Given the description of an element on the screen output the (x, y) to click on. 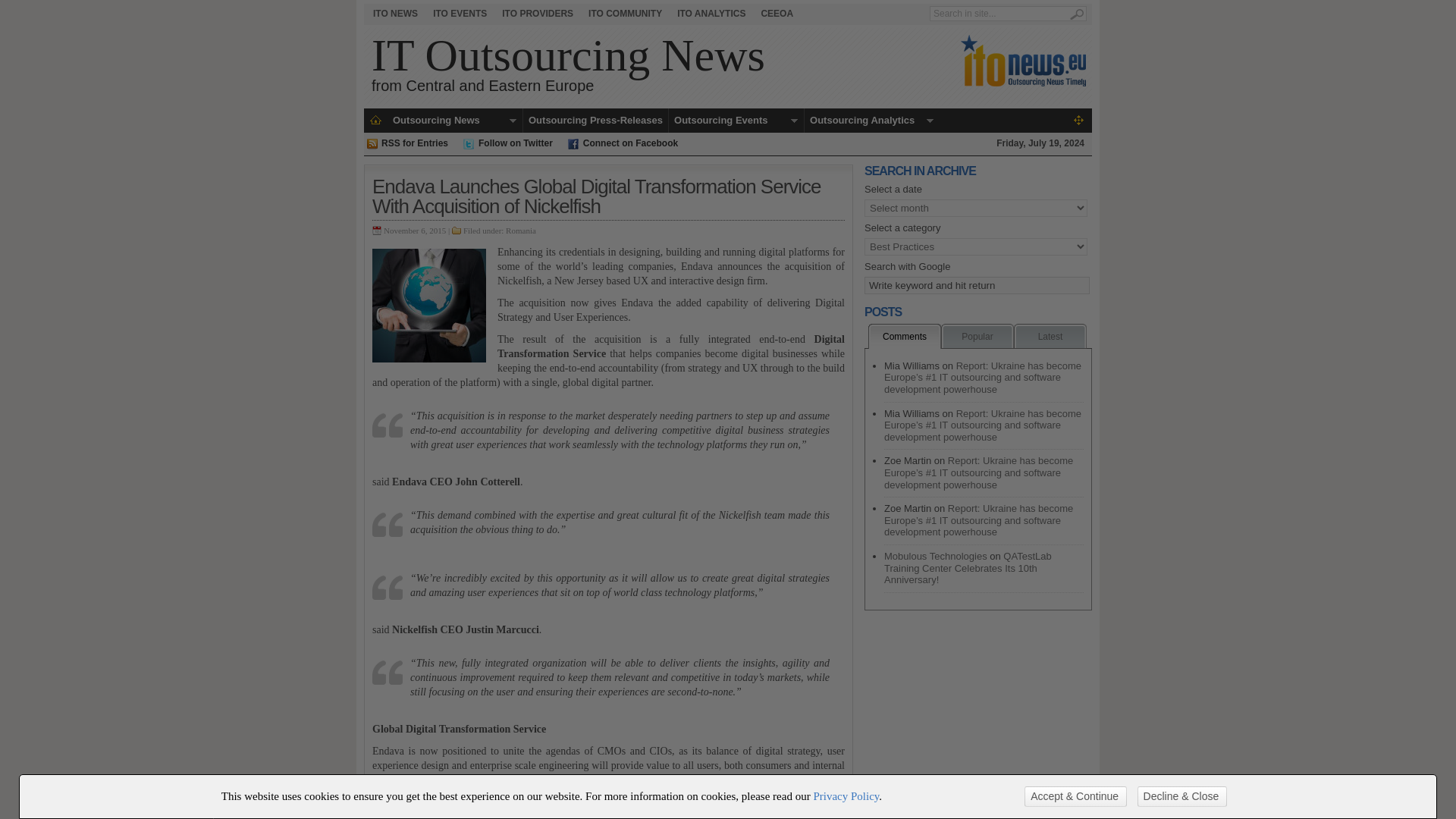
Outsourcing Press-Releases (595, 120)
Search in site... (1000, 13)
Connect on Facebook (630, 142)
Latest outsourcing news from CEE (395, 14)
Connect on facebook (630, 142)
Write keyword and hit return (976, 285)
Past and upcoming outsourcing events (460, 14)
Latest IT outsourcing market reports and white papers (710, 14)
Follow on Twitter (515, 142)
ITO EVENTS (460, 14)
View all posts in Romania (520, 230)
ITO ANALYTICS (710, 14)
ITO PROVIDERS (537, 14)
RSS for Entries (413, 142)
